Given the description of an element on the screen output the (x, y) to click on. 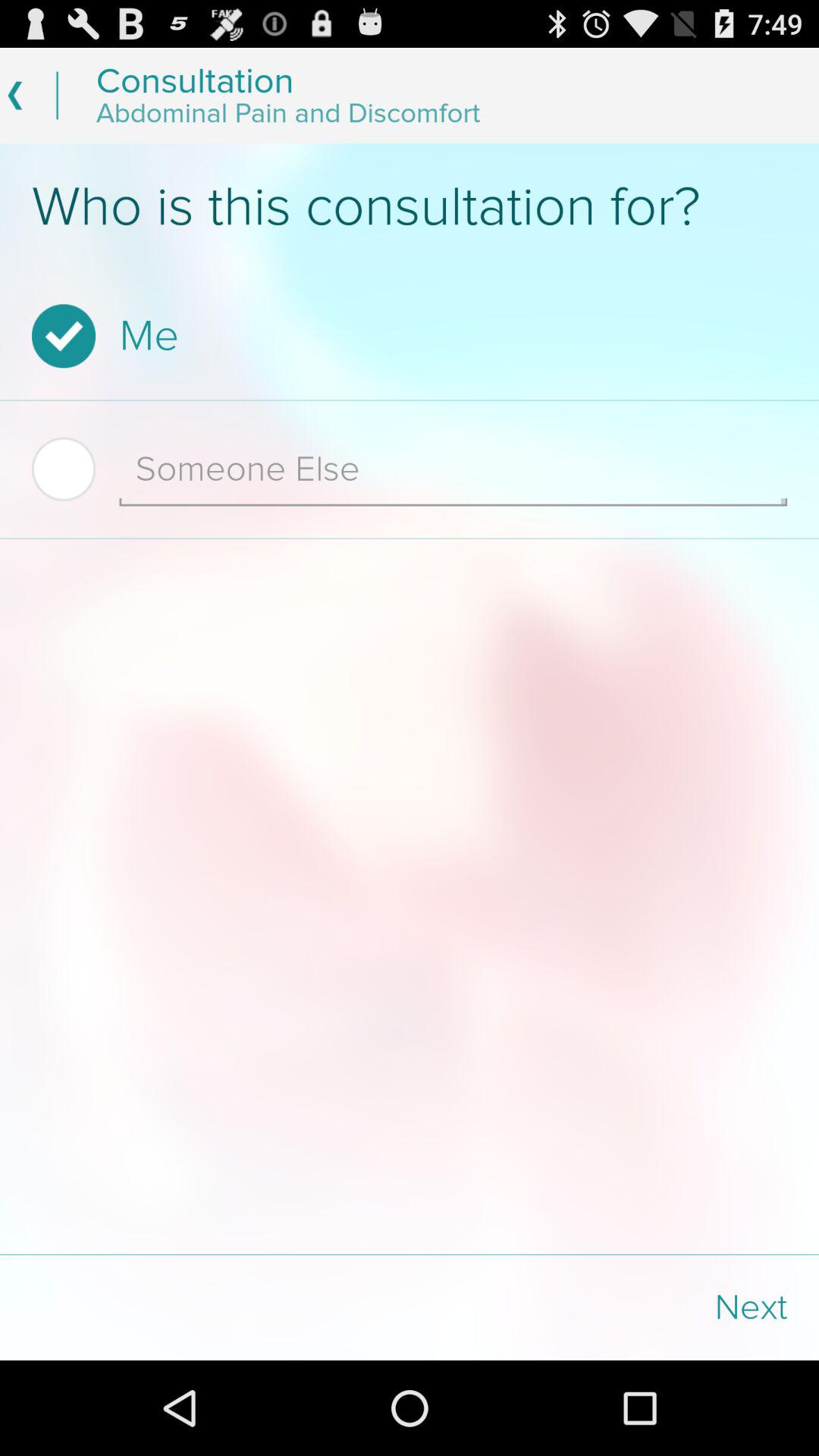
launch the icon below abdominal pain and icon (409, 207)
